Given the description of an element on the screen output the (x, y) to click on. 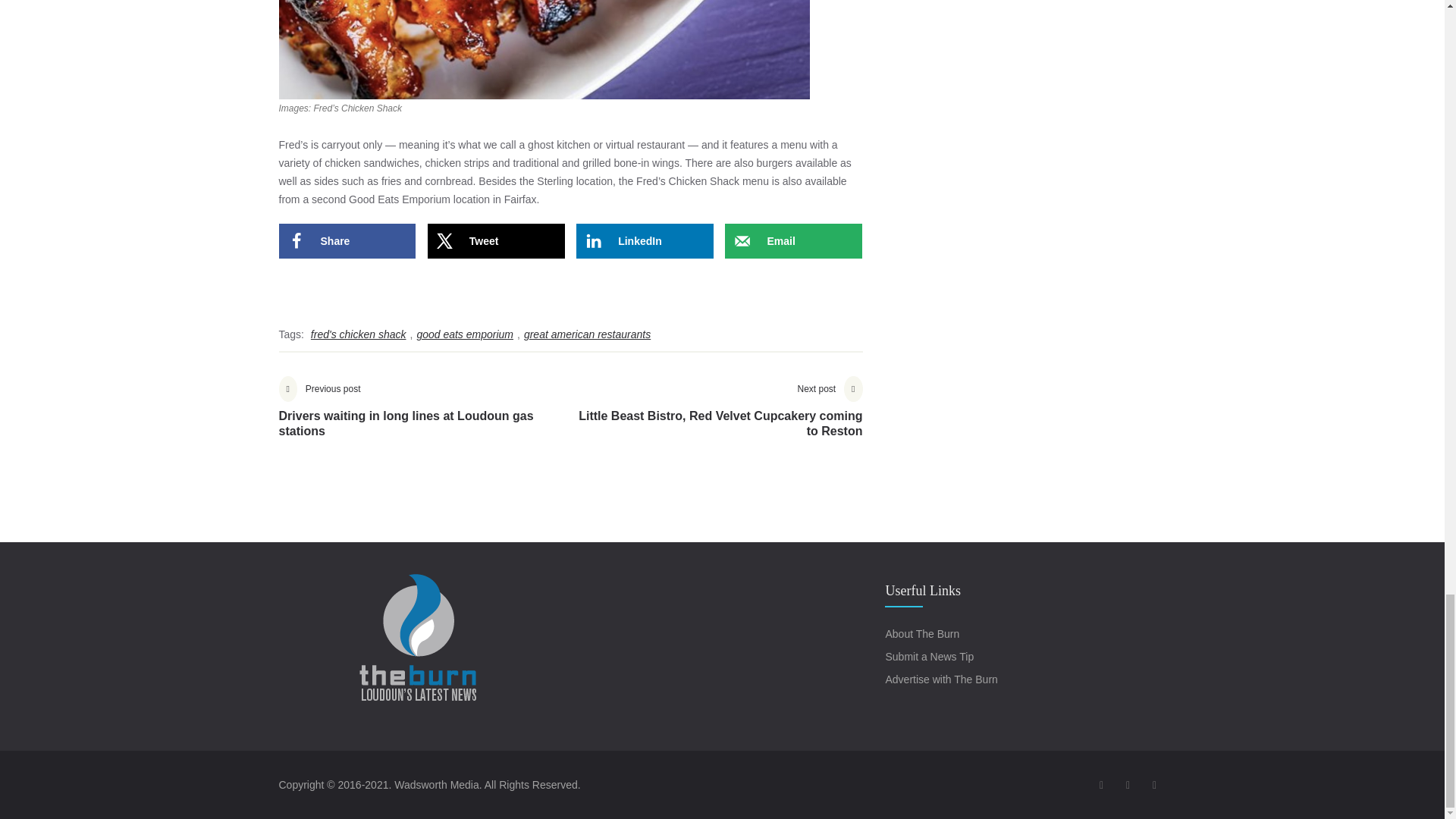
fred's chicken shack (358, 334)
Share on X (496, 240)
good eats emporium (464, 334)
Share on LinkedIn (644, 240)
Share on Facebook (347, 240)
Email (793, 240)
LinkedIn (644, 240)
prev post (424, 418)
next post (715, 418)
